Given the description of an element on the screen output the (x, y) to click on. 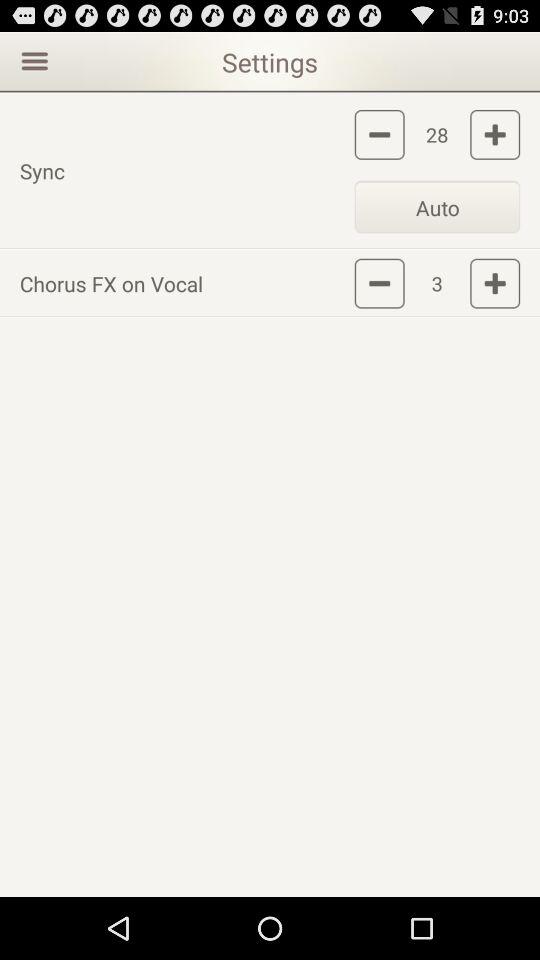
increase chorus fx on vocal (495, 283)
